Given the description of an element on the screen output the (x, y) to click on. 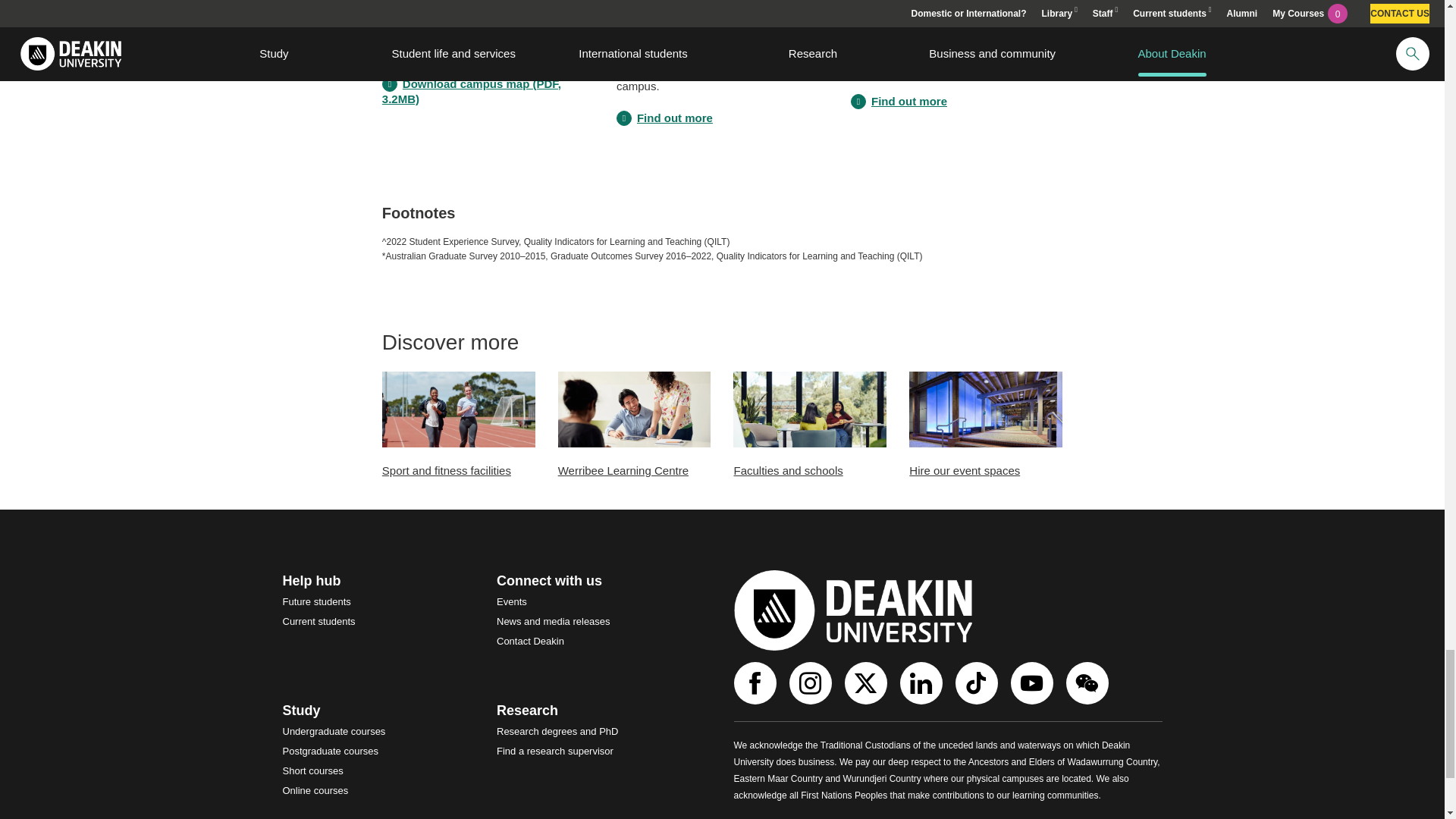
Instagram (811, 682)
Youtube (1033, 682)
Facebook (756, 682)
Linkedin (921, 682)
TikTok (978, 682)
Twitter (867, 682)
